Given the description of an element on the screen output the (x, y) to click on. 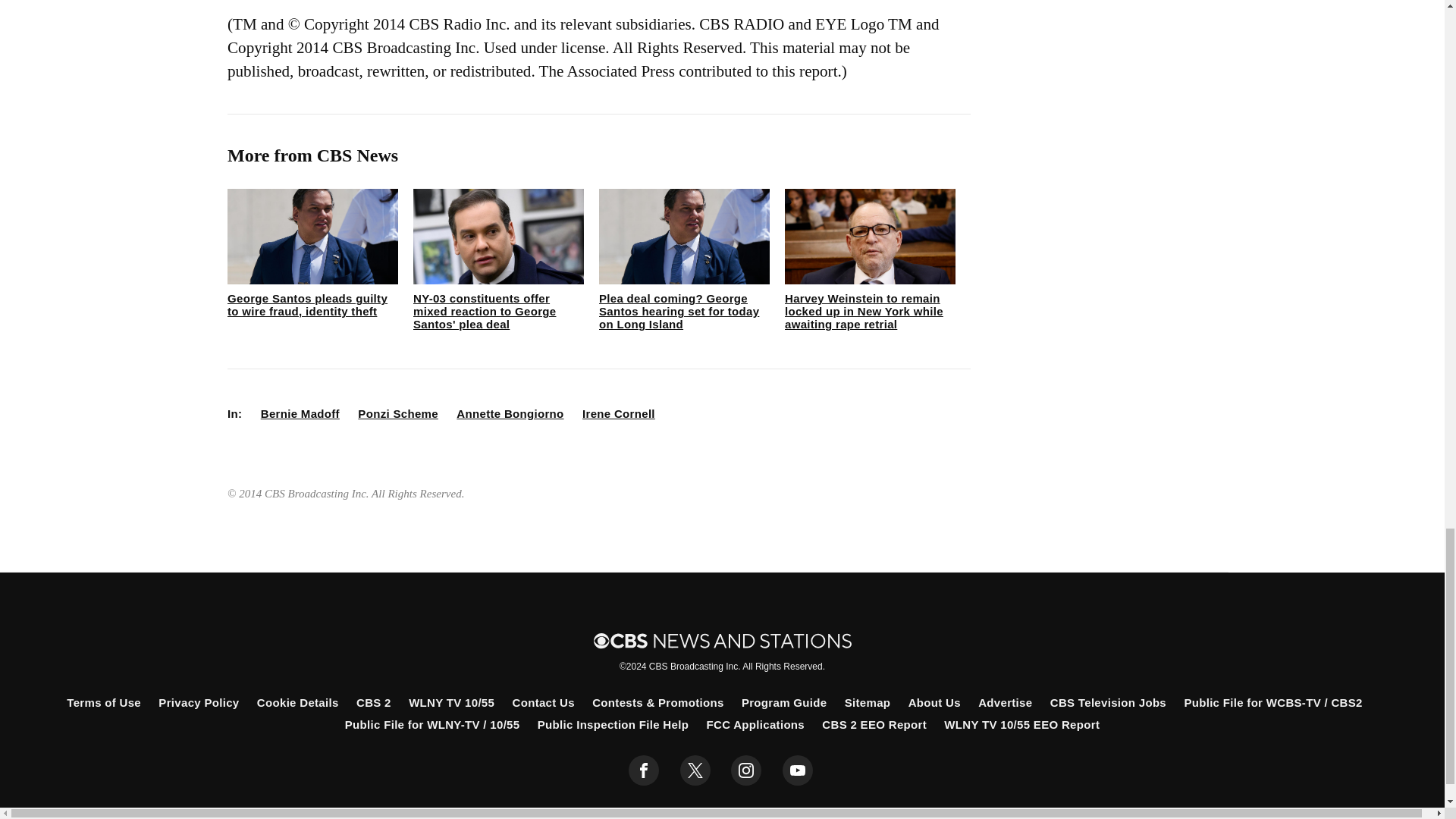
instagram (745, 770)
twitter (694, 770)
youtube (797, 770)
facebook (643, 770)
